Given the description of an element on the screen output the (x, y) to click on. 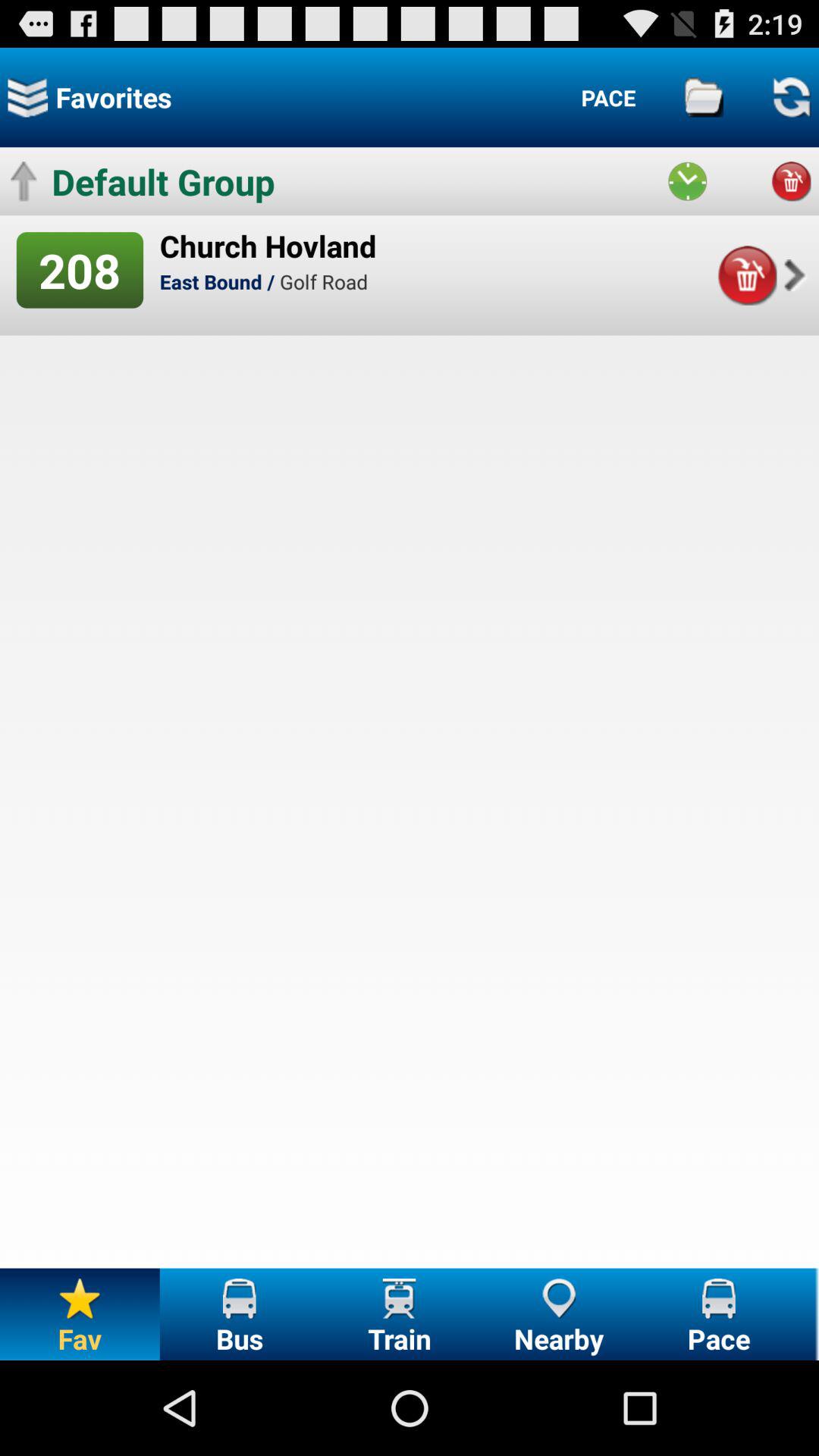
set the current time of day (687, 181)
